Given the description of an element on the screen output the (x, y) to click on. 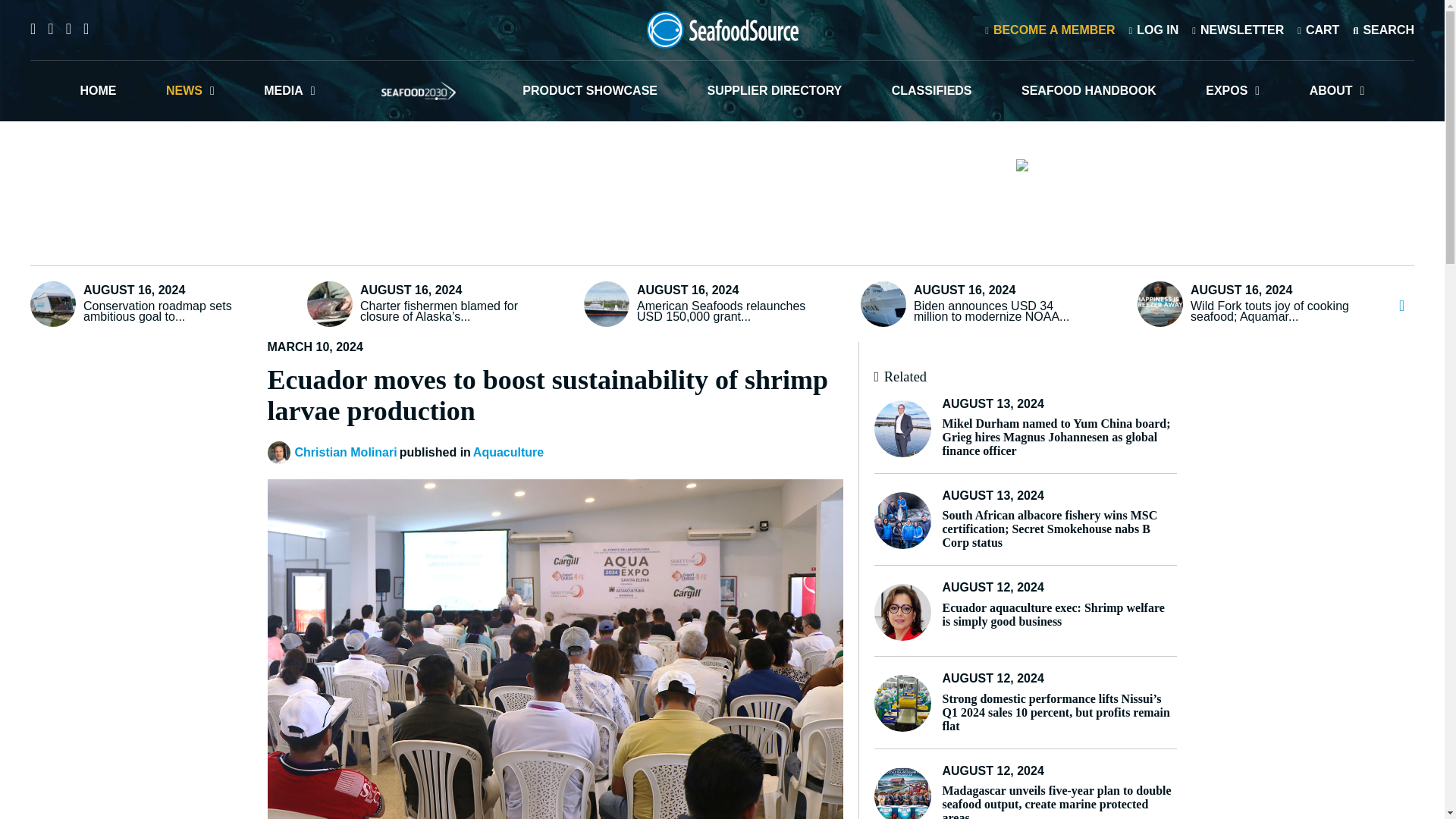
SEARCH (1382, 29)
SeafoodSource (721, 29)
BECOME A MEMBER (1050, 29)
SEAFOOD2030 (419, 90)
SUPPLIER DIRECTORY (773, 90)
Your cart (1318, 29)
CLASSIFIEDS (931, 90)
Become a member (1050, 29)
